Given the description of an element on the screen output the (x, y) to click on. 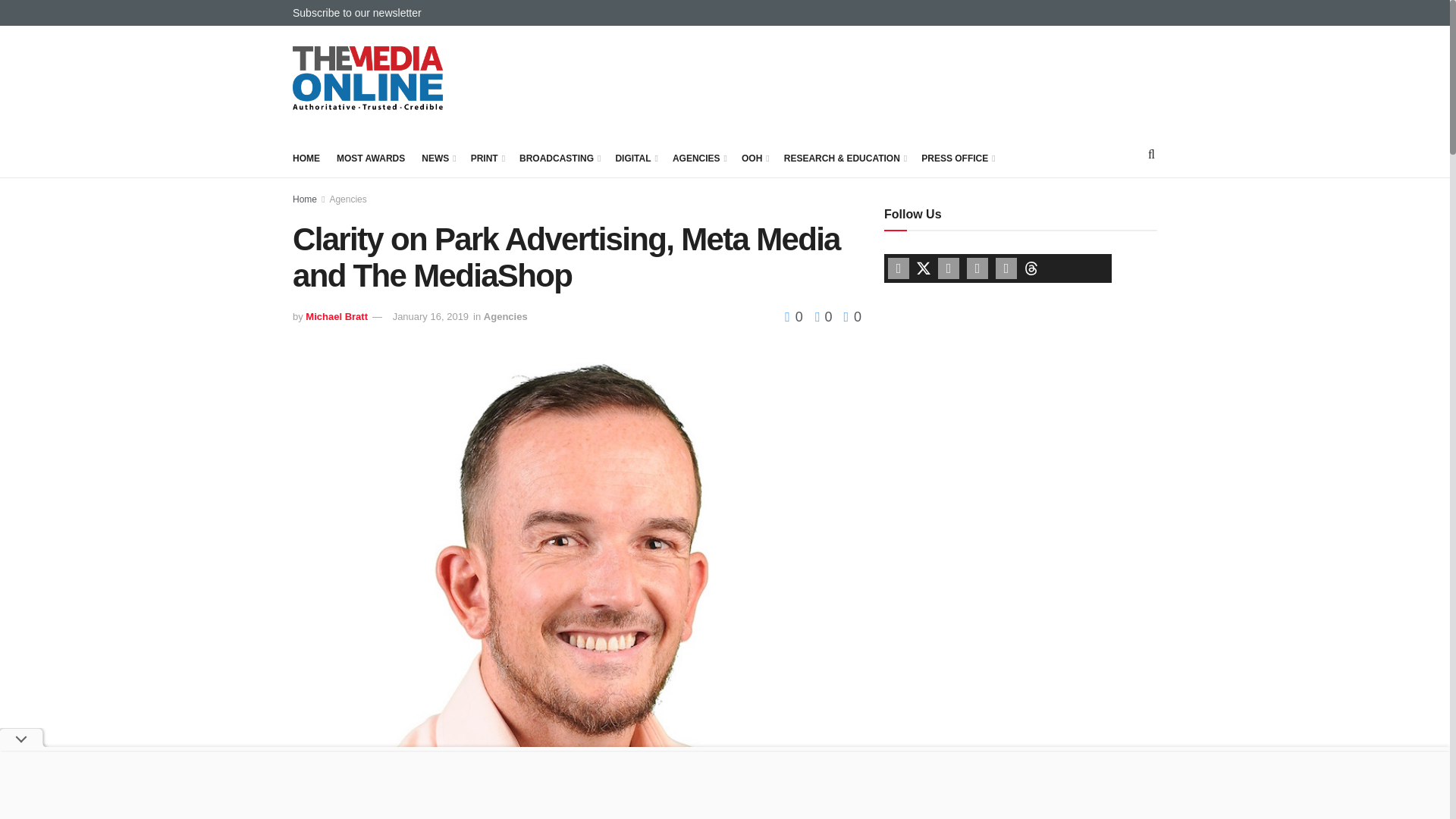
BROADCASTING (558, 158)
MOST AWARDS (370, 158)
twitter (923, 267)
PRESS OFFICE (956, 158)
pinterest (977, 268)
twitter (923, 268)
facebook (898, 268)
threads (1031, 267)
3rd party ad content (997, 407)
3rd party ad content (881, 79)
AGENCIES (698, 158)
instagram (1005, 268)
youtube (948, 268)
DIGITAL (635, 158)
Subscribe to our newsletter (357, 12)
